Given the description of an element on the screen output the (x, y) to click on. 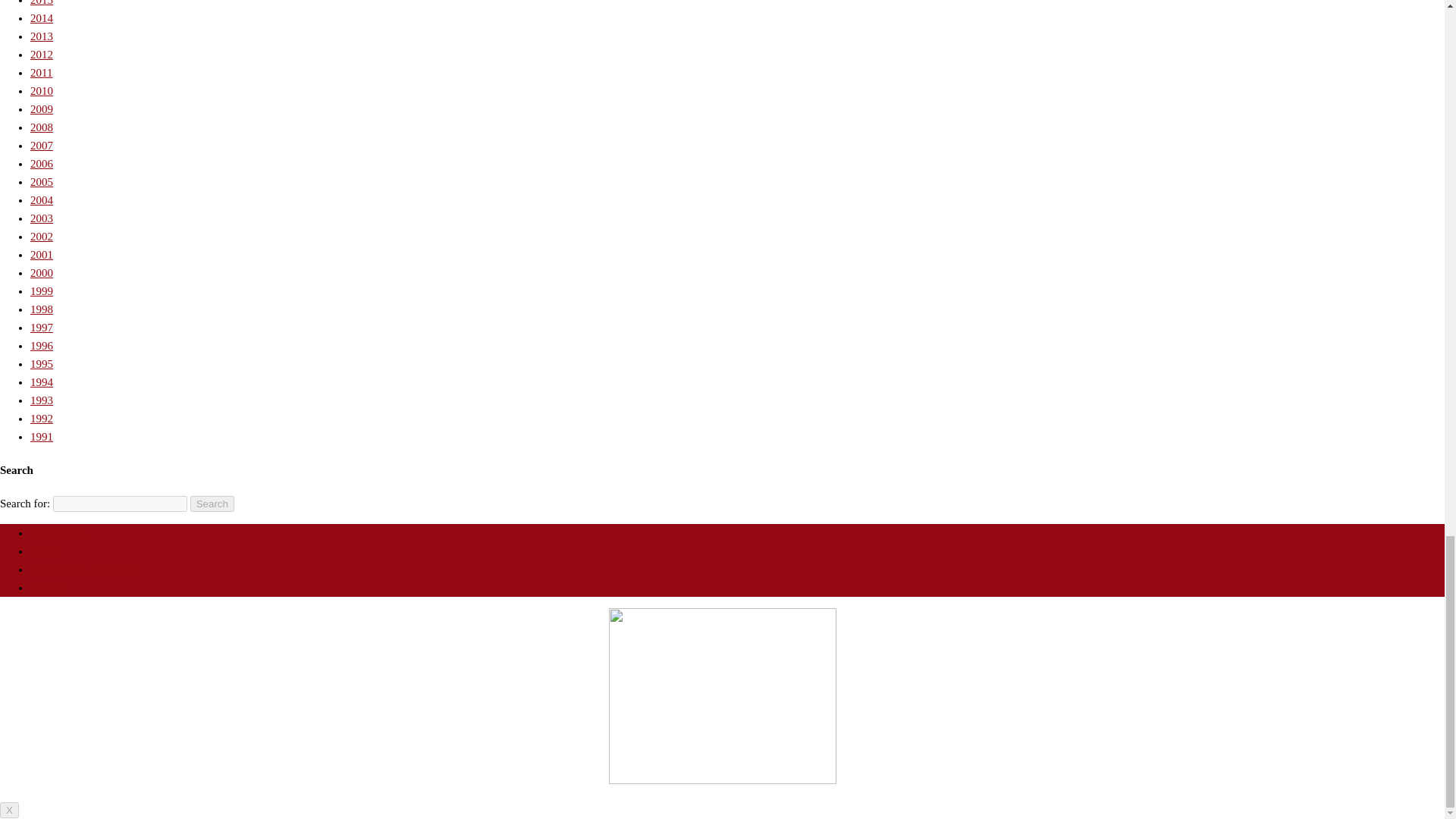
Search (212, 503)
2013 (41, 36)
2014 (41, 18)
2015 (41, 2)
Deutsch (48, 587)
